Given the description of an element on the screen output the (x, y) to click on. 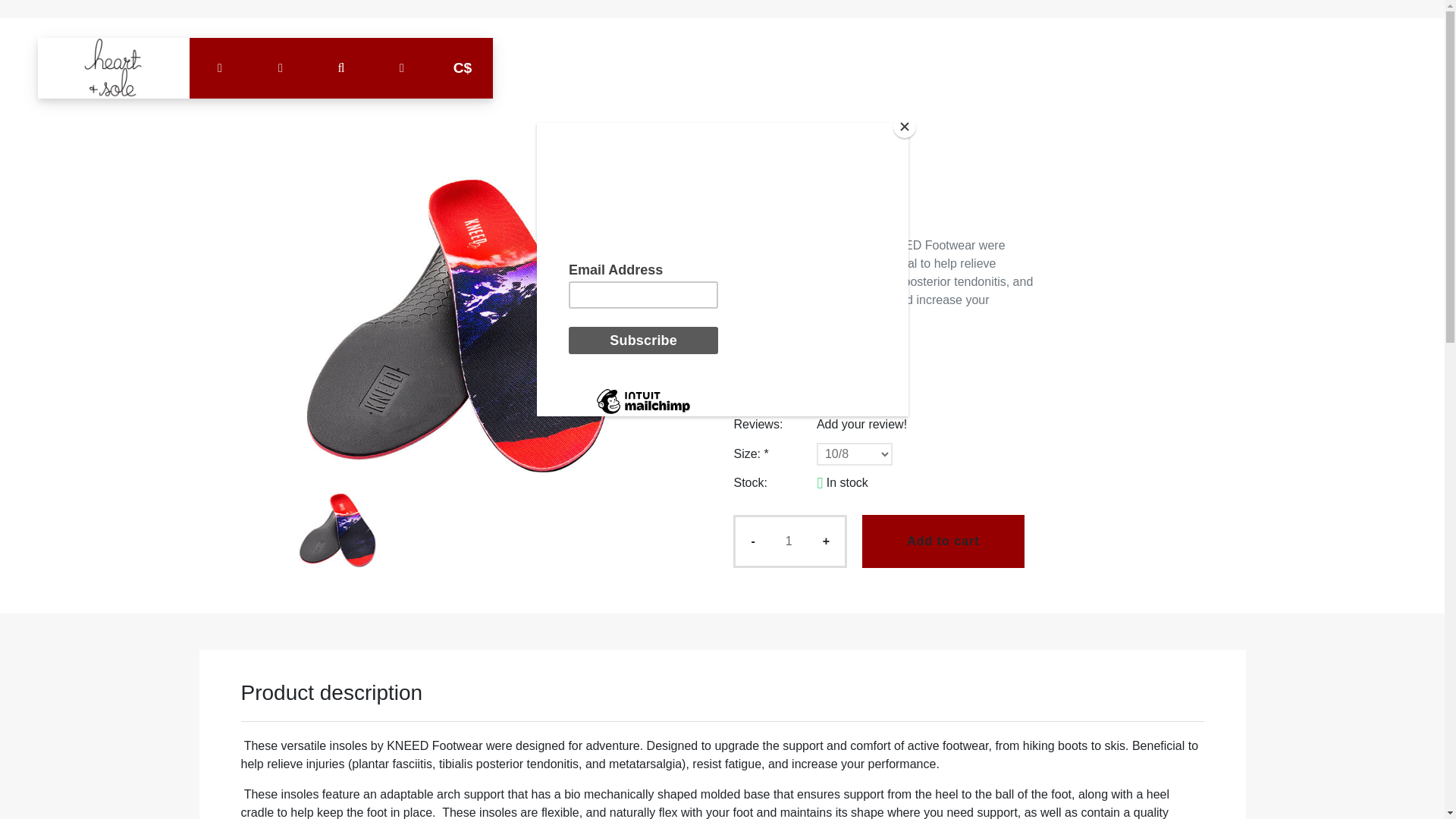
Add your review! (861, 423)
Wish List (769, 348)
Kneed O2 (803, 214)
Home (749, 214)
Kneed O2 (460, 326)
Compare (839, 348)
Home (113, 67)
Add to wishlist (769, 348)
Kneed O2 (337, 529)
Home (749, 214)
